Given the description of an element on the screen output the (x, y) to click on. 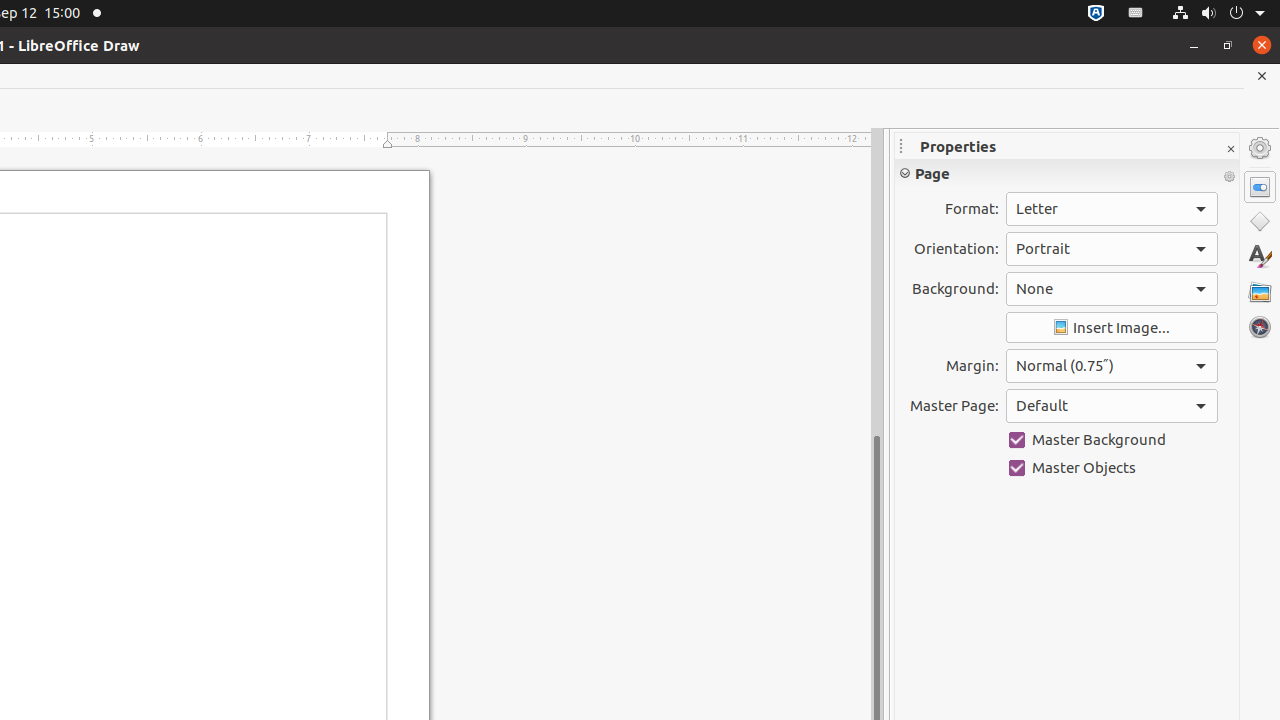
Gallery Element type: radio-button (1260, 292)
Margin: Element type: combo-box (1112, 366)
System Element type: menu (1218, 13)
Styles Element type: radio-button (1260, 256)
:1.21/StatusNotifierItem Element type: menu (1136, 13)
